Given the description of an element on the screen output the (x, y) to click on. 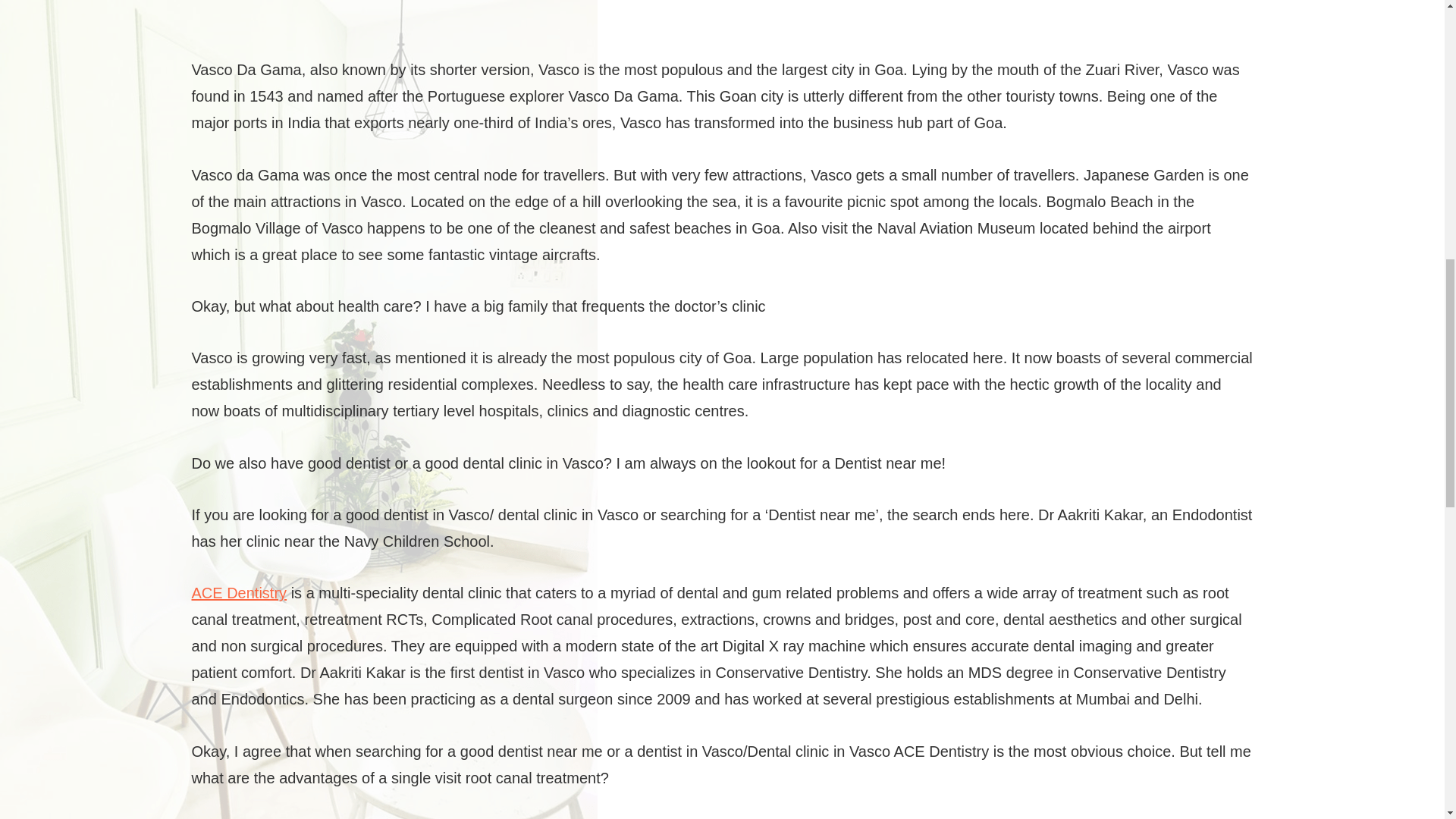
Ace Dentistry (238, 592)
ACE Dentistry (238, 592)
